Given the description of an element on the screen output the (x, y) to click on. 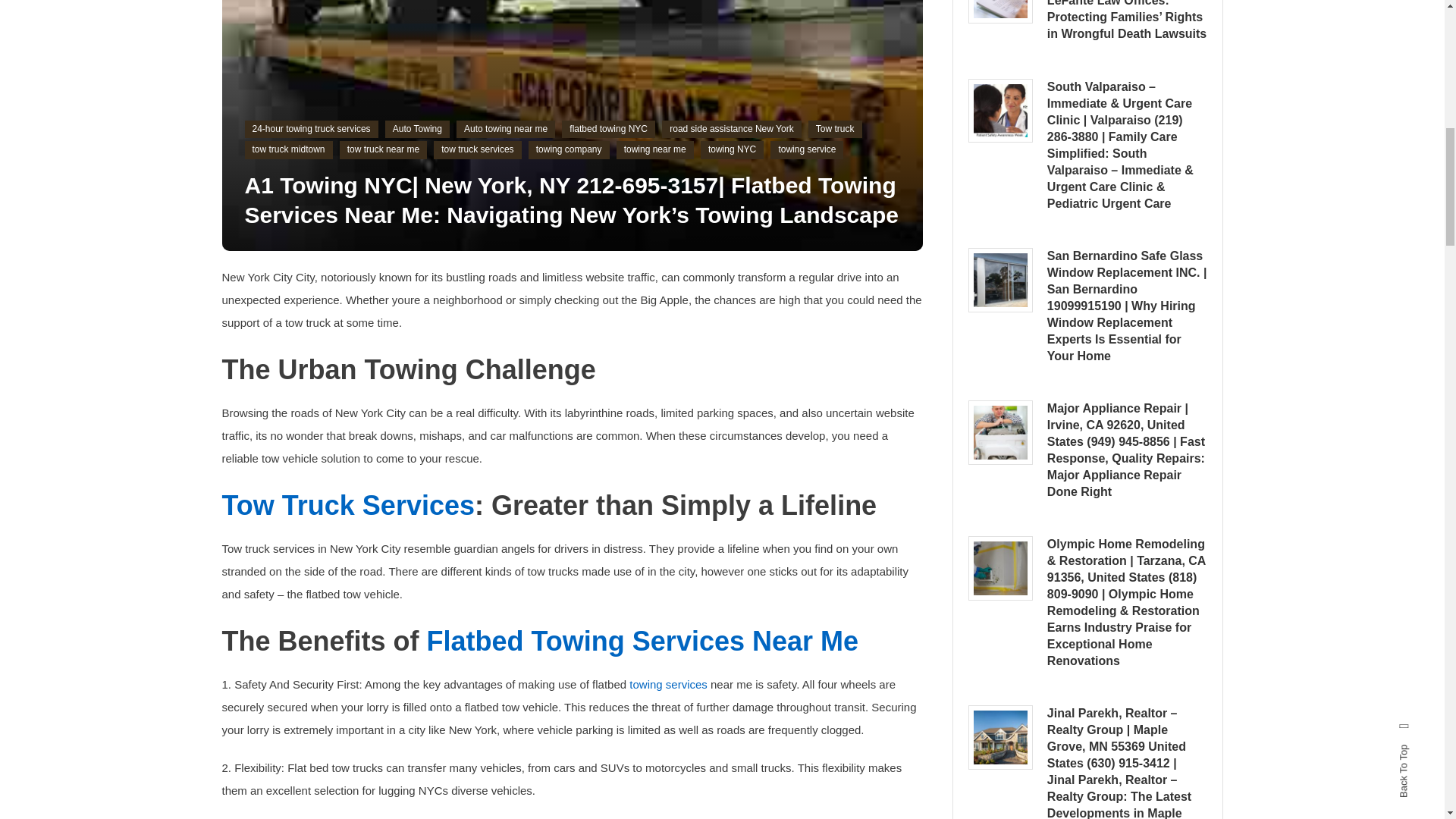
Auto towing near me (505, 129)
24-hour towing truck services (310, 129)
Auto Towing (417, 129)
